Given the description of an element on the screen output the (x, y) to click on. 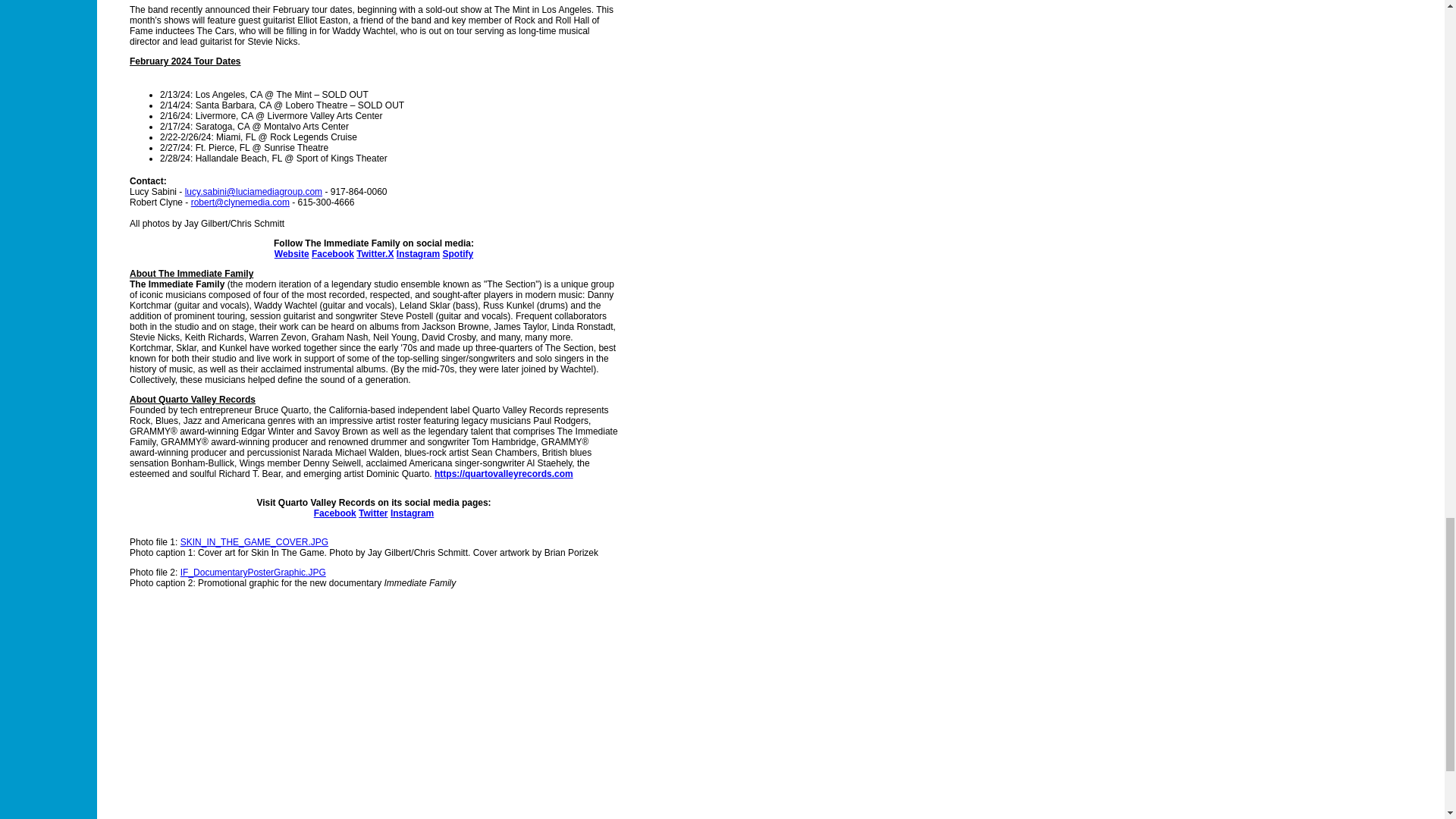
Instagram (411, 512)
Instagram (417, 253)
Facebook (332, 253)
Twitter.X (374, 253)
Spotify (458, 253)
Twitter (372, 512)
Facebook (335, 512)
Website (291, 253)
